Given the description of an element on the screen output the (x, y) to click on. 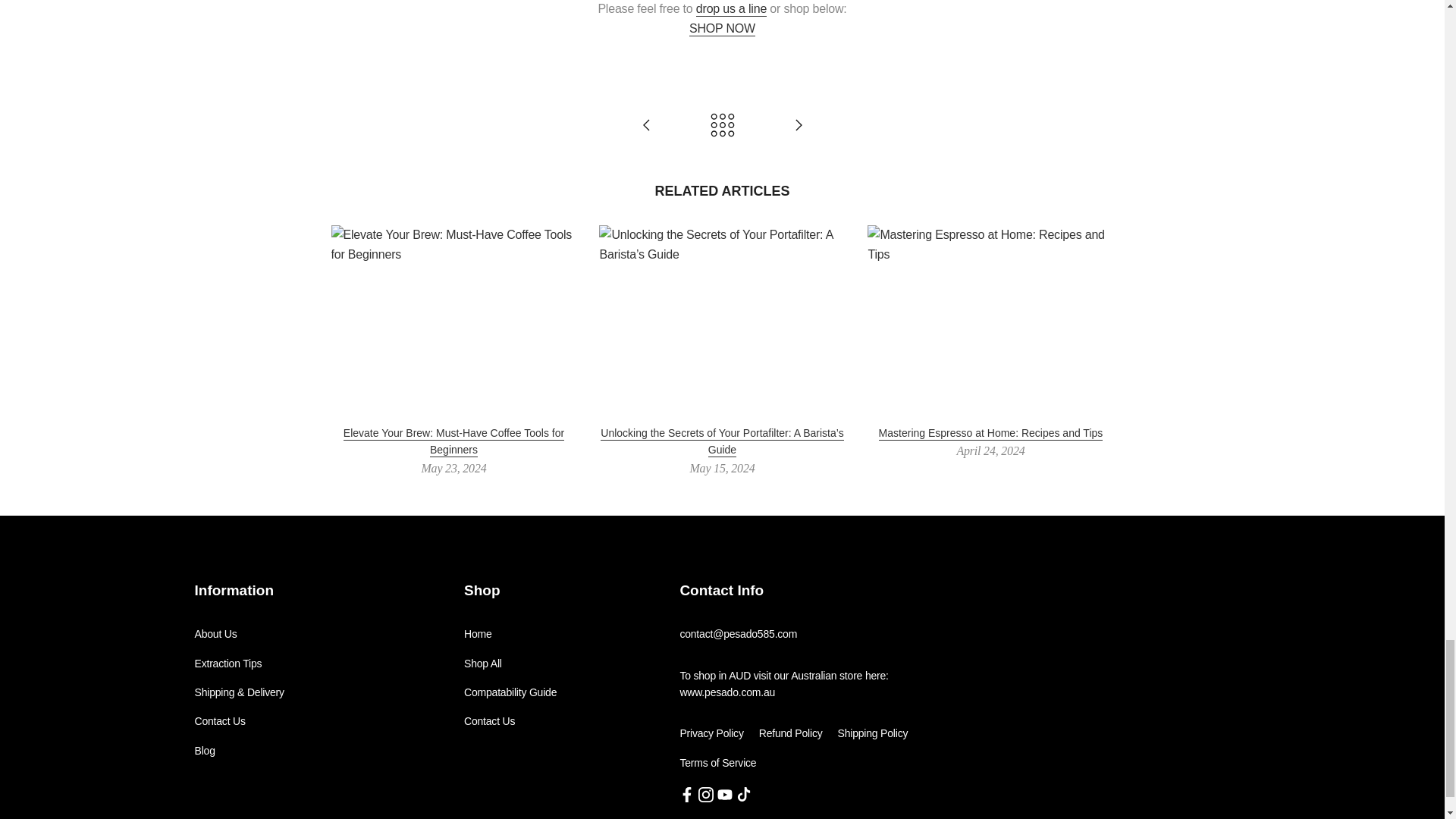
Compatability Guide (510, 692)
Extraction Tips (227, 663)
The Advantages of Built-in Coffee Grinders (797, 125)
Terms of Service (717, 762)
Blog (203, 750)
Back to News (722, 125)
Americano vs. Long Black: What's the Difference? (646, 125)
Privacy Policy (710, 733)
Refund Policy (790, 733)
Elevate Your Brew: Must-Have Coffee Tools for Beginners (453, 441)
